Given the description of an element on the screen output the (x, y) to click on. 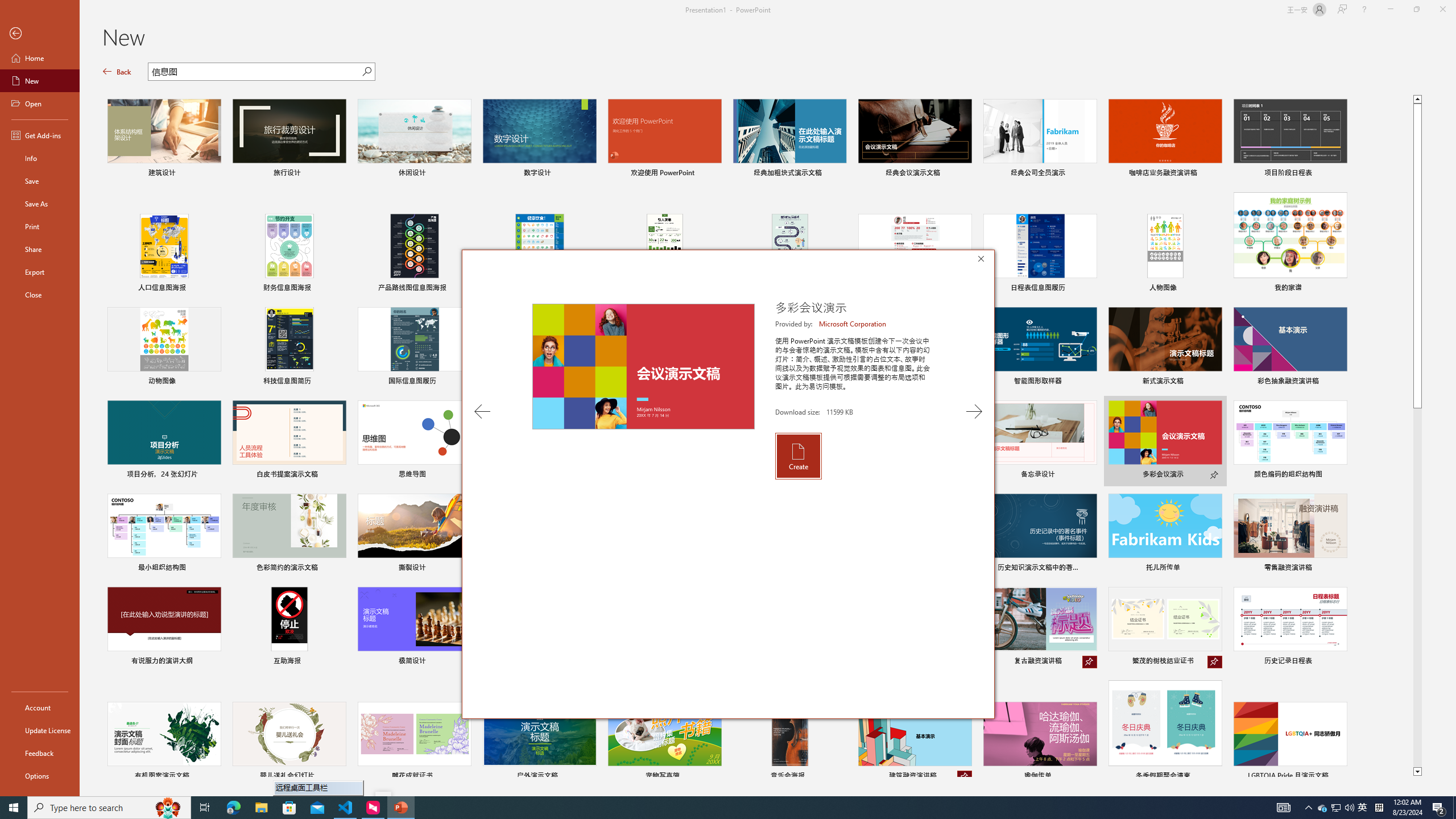
Create (797, 455)
Open (40, 102)
Running applications (700, 807)
